Given the description of an element on the screen output the (x, y) to click on. 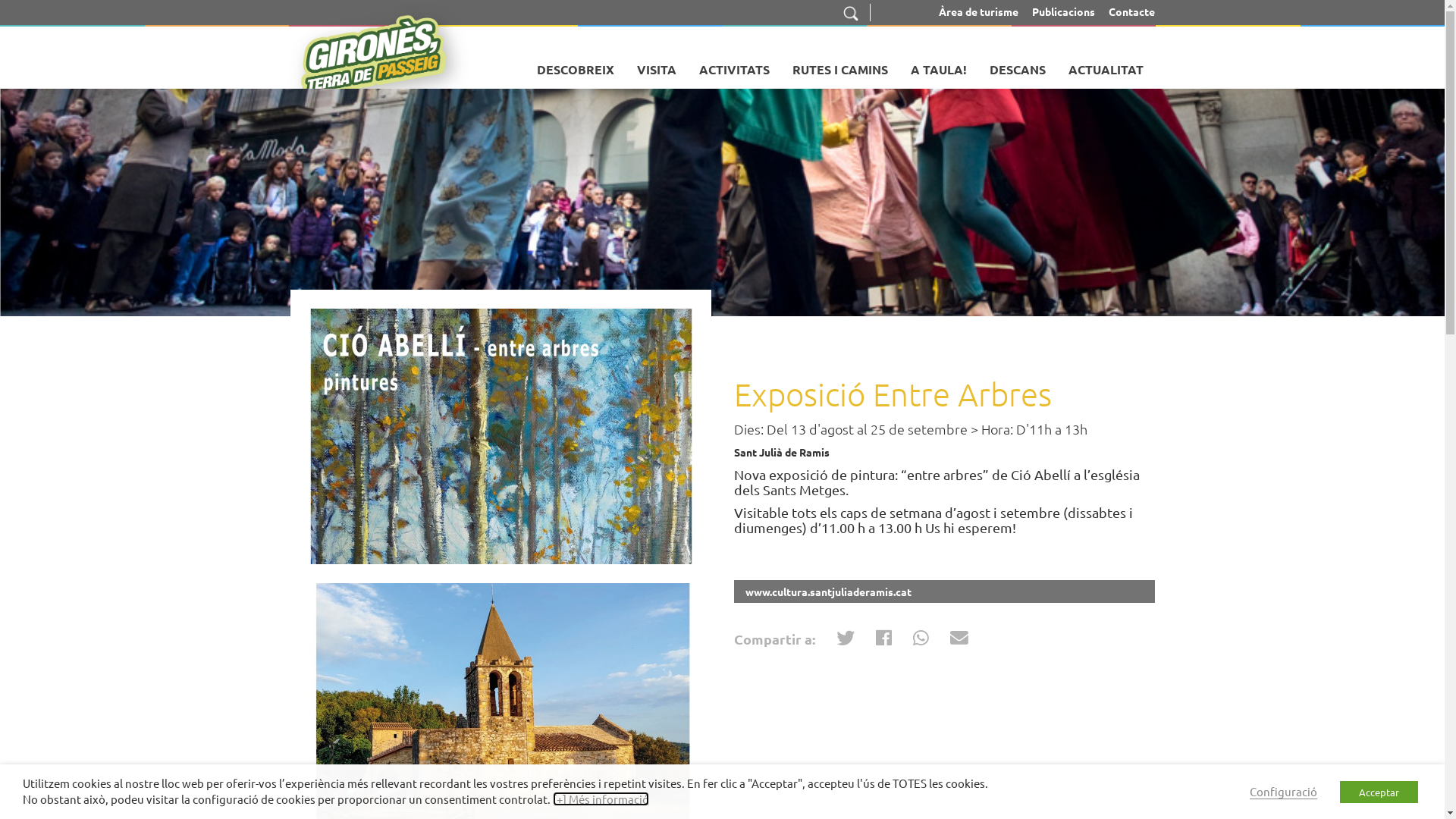
Contacte Element type: text (1131, 11)
DESCOBREIX Element type: text (574, 63)
ACTUALITAT Element type: text (1105, 63)
www.cultura.santjuliaderamis.cat Element type: text (944, 591)
Comparteix a Whatsapp (Obre en nova finestra) Element type: text (920, 639)
A TAULA! Element type: text (938, 63)
ACTIVITATS Element type: text (733, 63)
Comparteix a Twitter (Obre en nova finestra) Element type: text (844, 639)
Comparteix a Facebook (Obre en nova finestra) Element type: text (883, 639)
DESCANS Element type: text (1017, 63)
RUTES I CAMINS Element type: text (840, 63)
Comparteix a E-mail (Obre en nova finestra) Element type: text (958, 639)
VISITA Element type: text (655, 63)
Acceptar Element type: text (1378, 792)
Publicacions Element type: text (1062, 11)
